Given the description of an element on the screen output the (x, y) to click on. 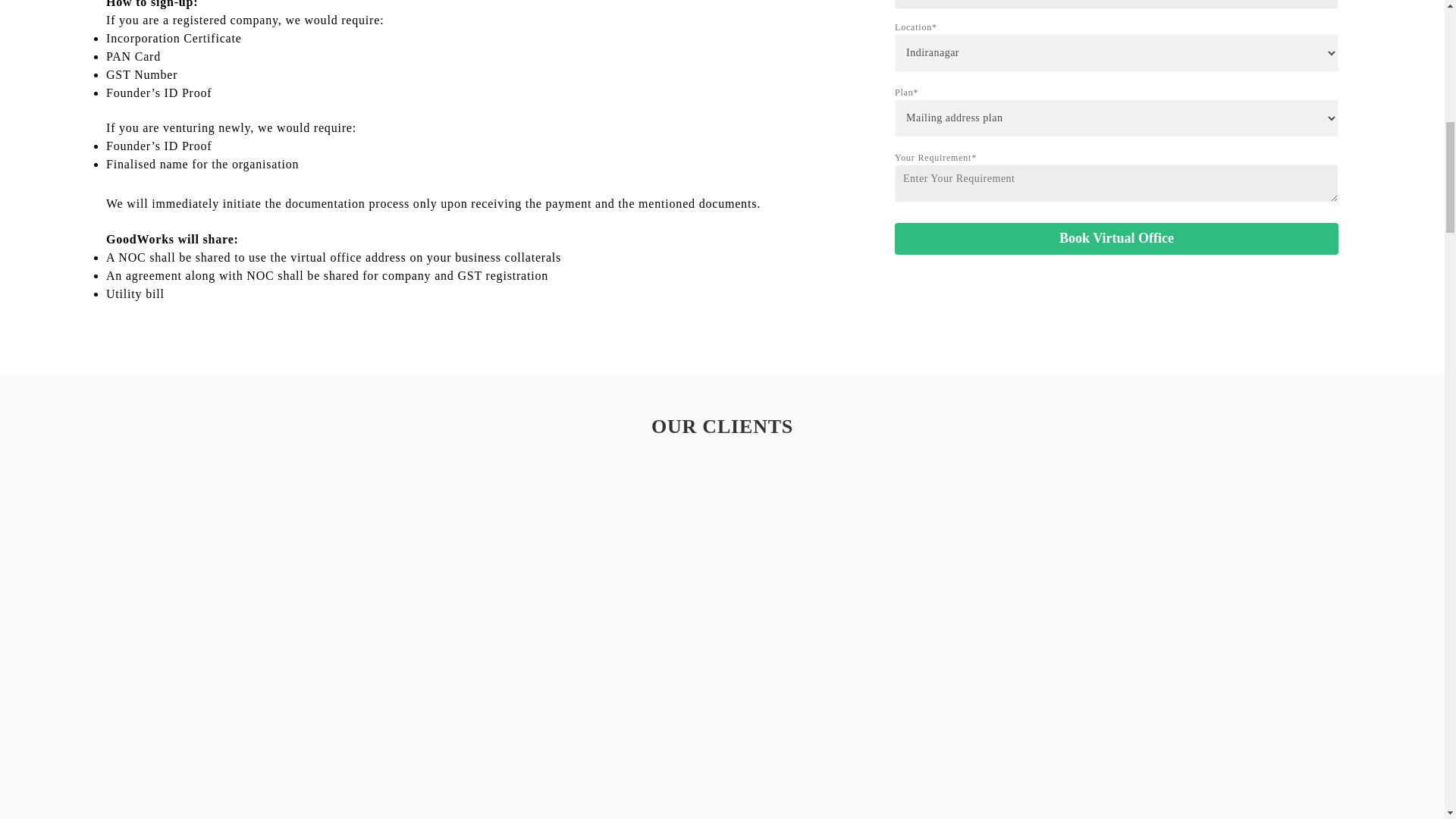
Book Virtual Office (1116, 238)
